Given the description of an element on the screen output the (x, y) to click on. 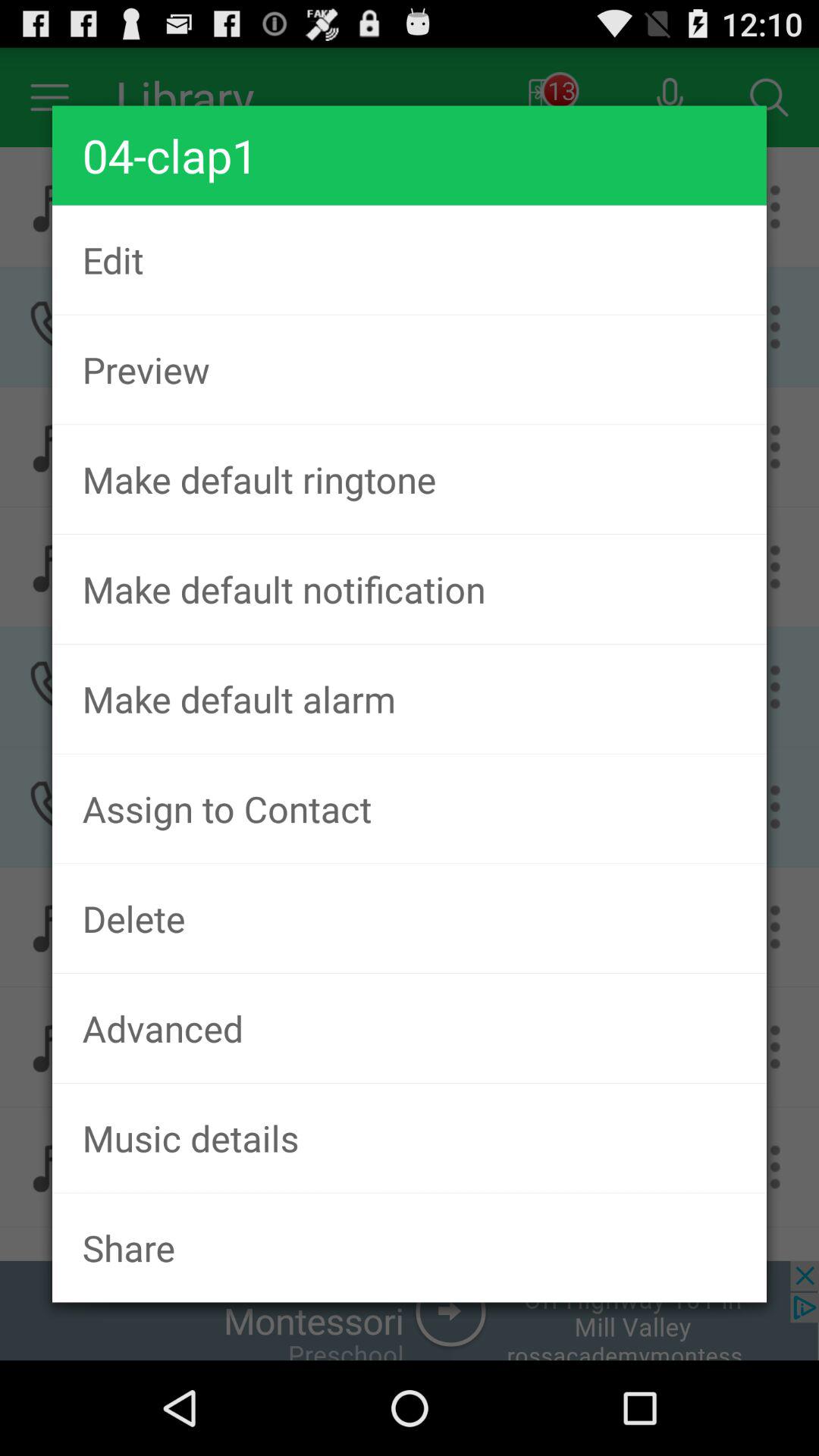
turn off preview icon (409, 369)
